Given the description of an element on the screen output the (x, y) to click on. 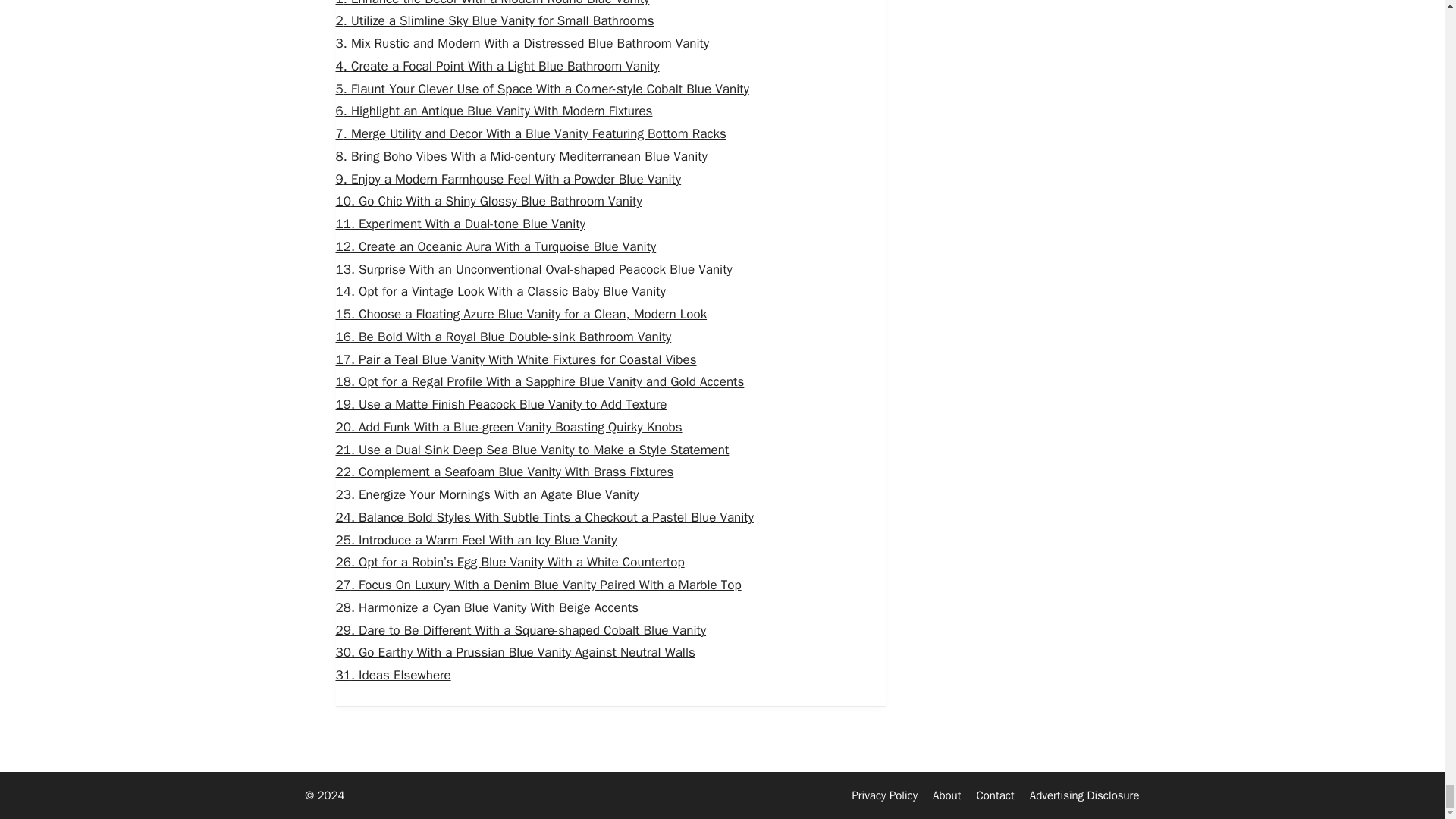
Enhance the Decor With a Modern Round Blue Vanity (491, 3)
Utilize a Slimline Sky Blue Vanity for Small Bathrooms (493, 20)
